Given the description of an element on the screen output the (x, y) to click on. 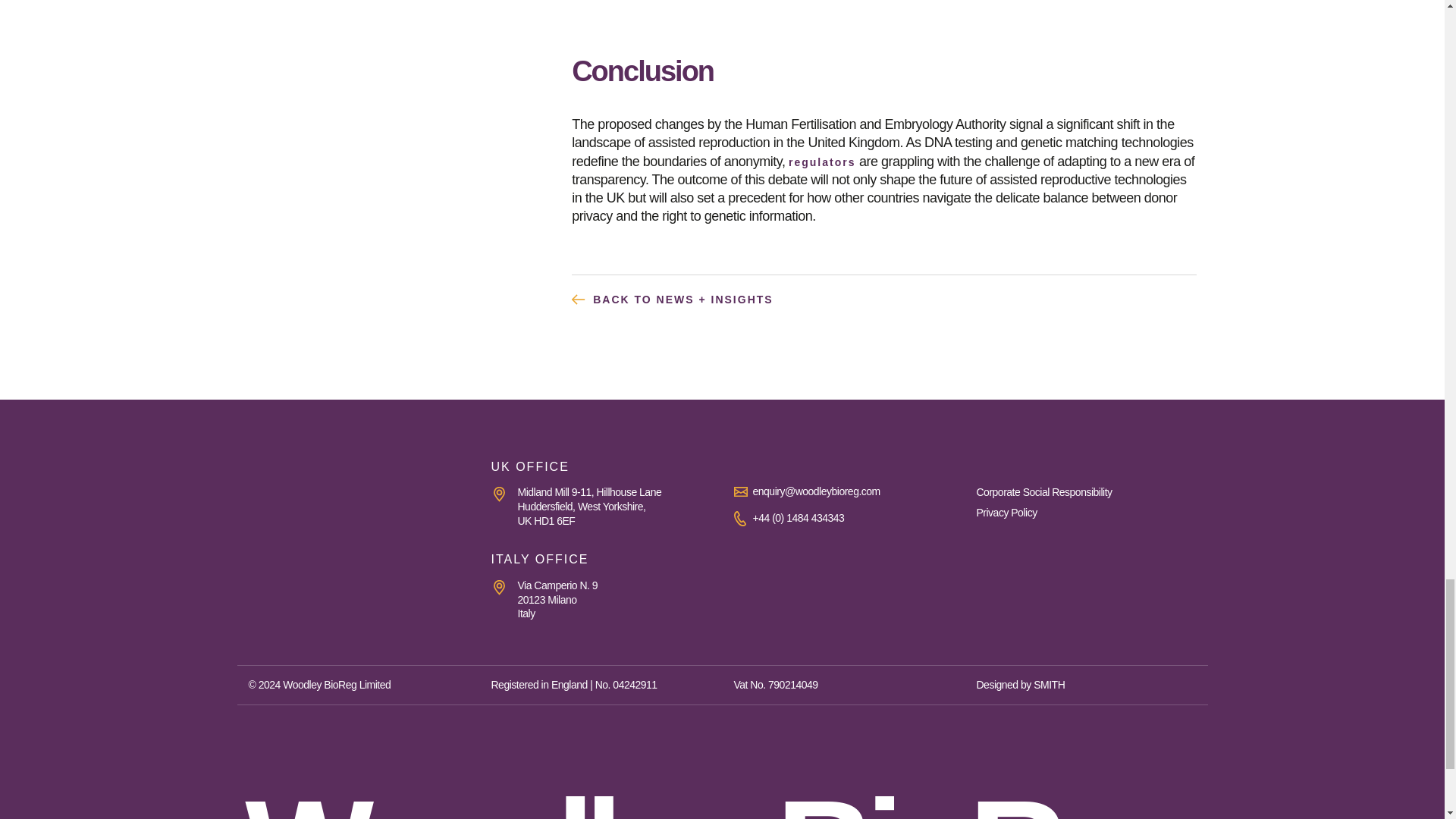
regulators (822, 162)
